Given the description of an element on the screen output the (x, y) to click on. 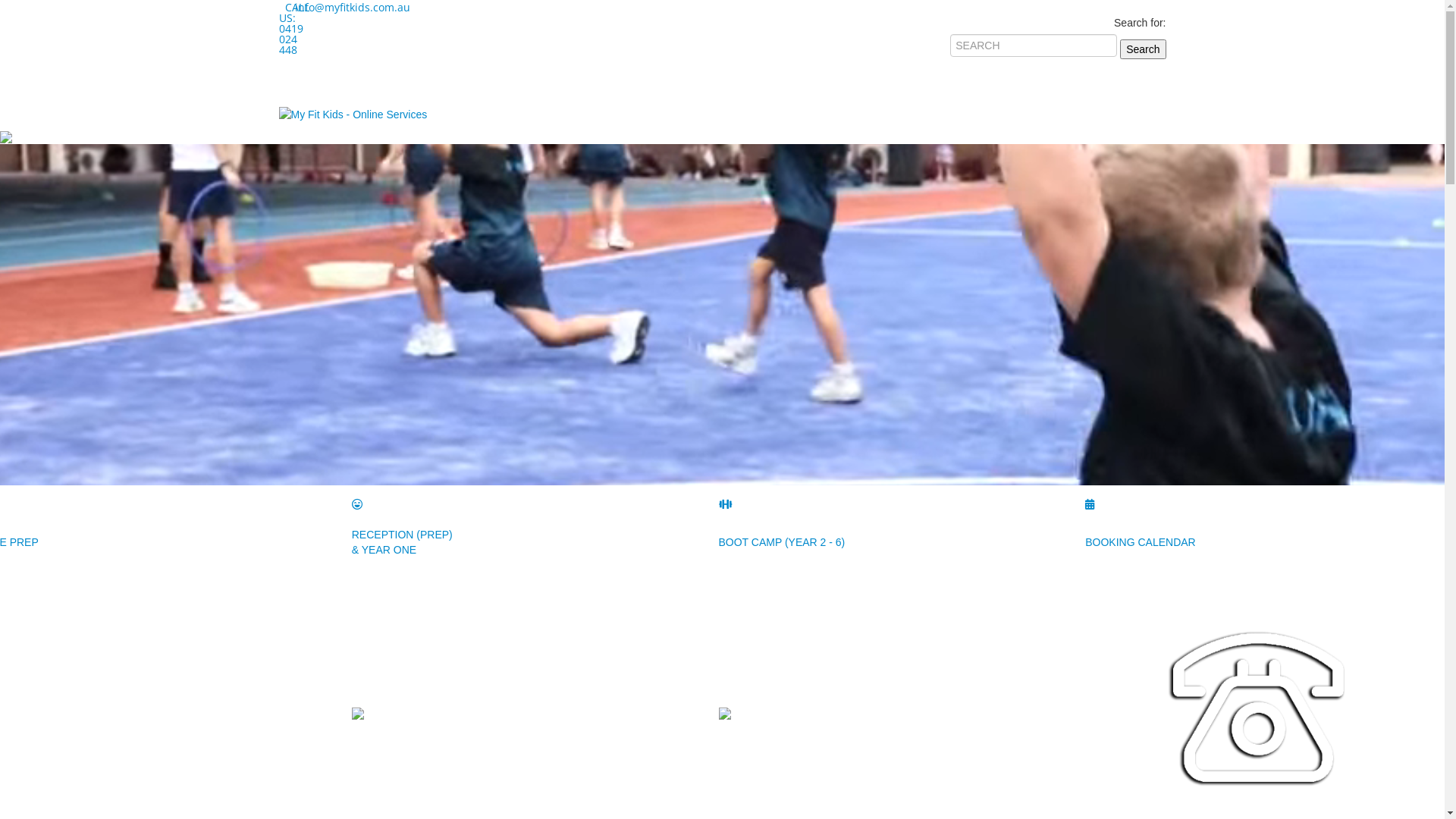
My Fit Kids Element type: hover (353, 113)
Search Element type: text (1142, 49)
RECEPTION (PREP)
& YEAR ONE Element type: text (401, 541)
 info@myfitkids.com.au  Element type: text (296, 7)
BOOKING CALENDAR Element type: text (1140, 542)
BOOT CAMP (YEAR 2 - 6) Element type: text (781, 542)
  CALL US: 0419 024 448  Element type: text (284, 7)
